Given the description of an element on the screen output the (x, y) to click on. 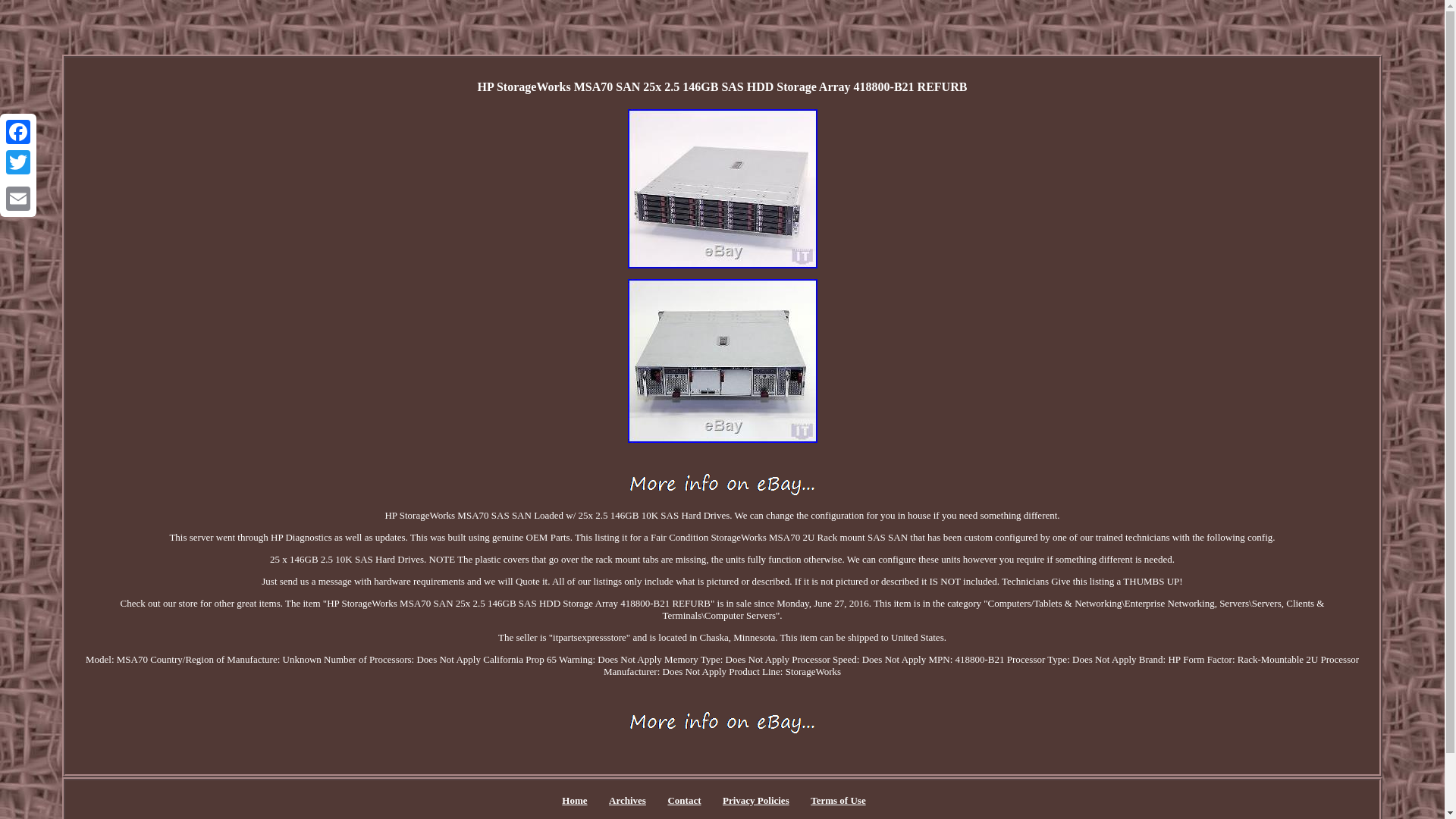
Email (17, 198)
Facebook (17, 132)
Twitter (17, 162)
